Given the description of an element on the screen output the (x, y) to click on. 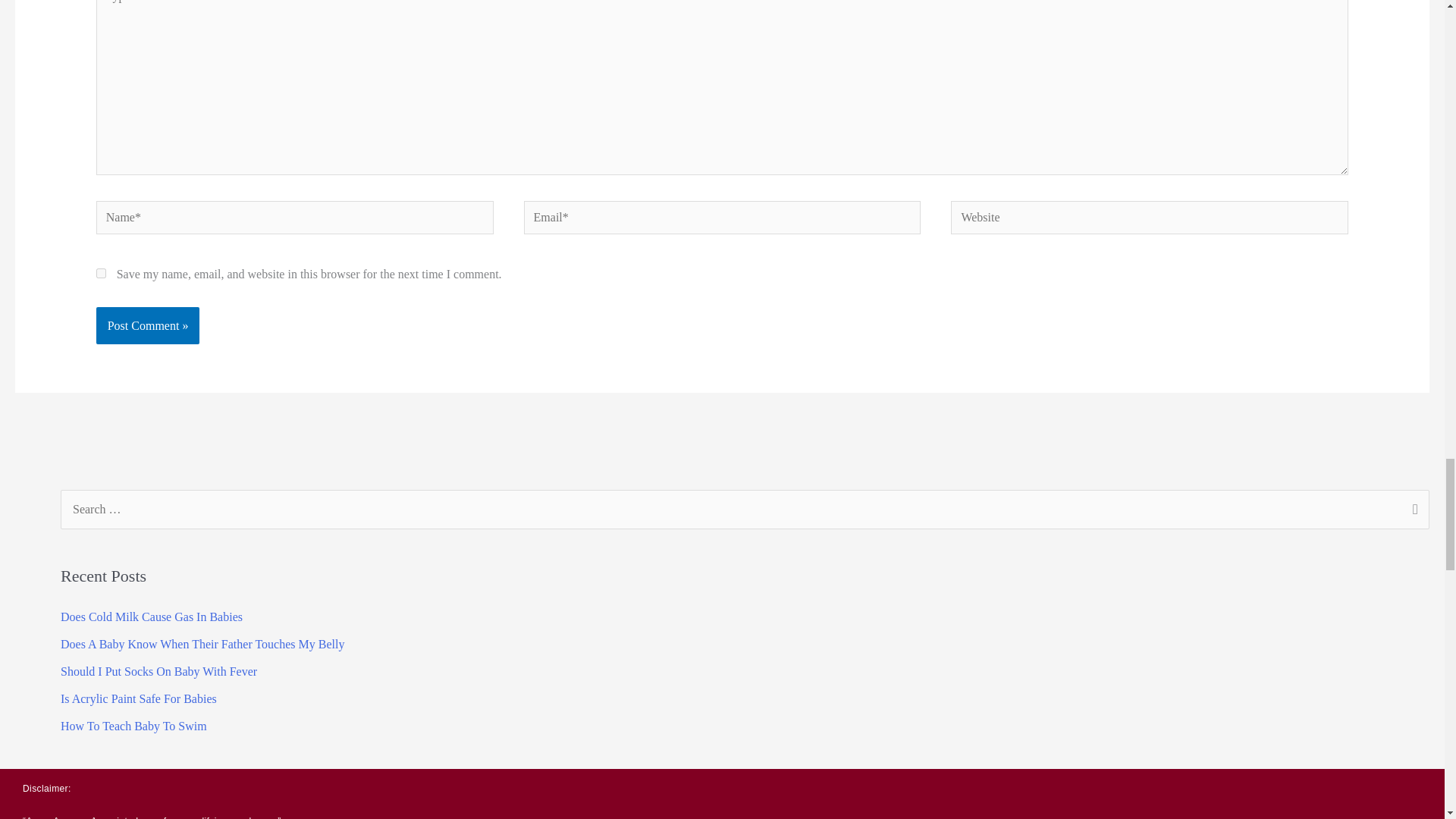
yes (101, 273)
